Given the description of an element on the screen output the (x, y) to click on. 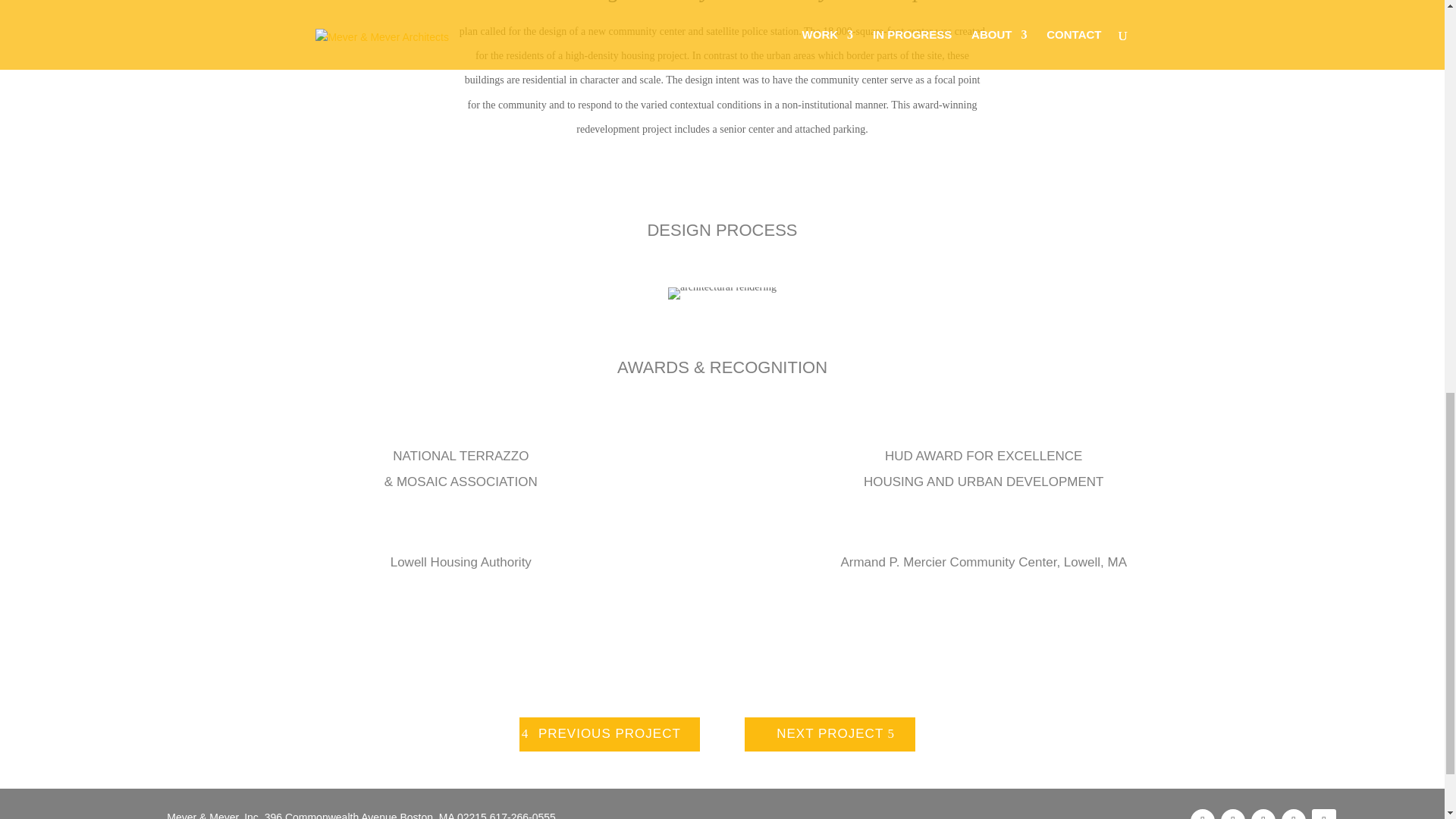
Mercier5 (722, 293)
Follow on Instagram (1293, 814)
Follow on Houzz (1323, 814)
Follow on Pinterest (1232, 814)
NEXT PROJECT (829, 734)
Follow on Facebook (1202, 814)
PREVIOUS PROJECT (609, 734)
Follow on LinkedIn (1262, 814)
